Given the description of an element on the screen output the (x, y) to click on. 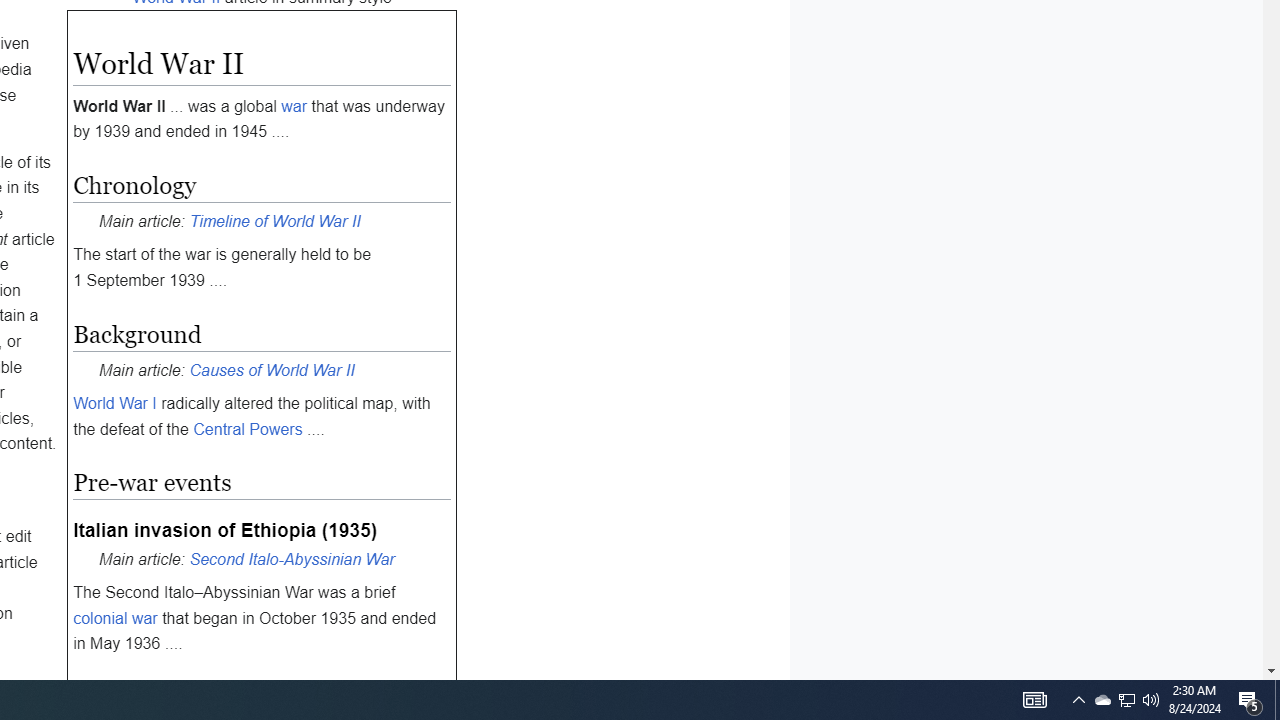
colonial war (114, 618)
war (294, 106)
Causes of World War II (271, 369)
Second Italo-Abyssinian War (292, 559)
Timeline of World War II (274, 220)
Central Powers (248, 428)
